Given the description of an element on the screen output the (x, y) to click on. 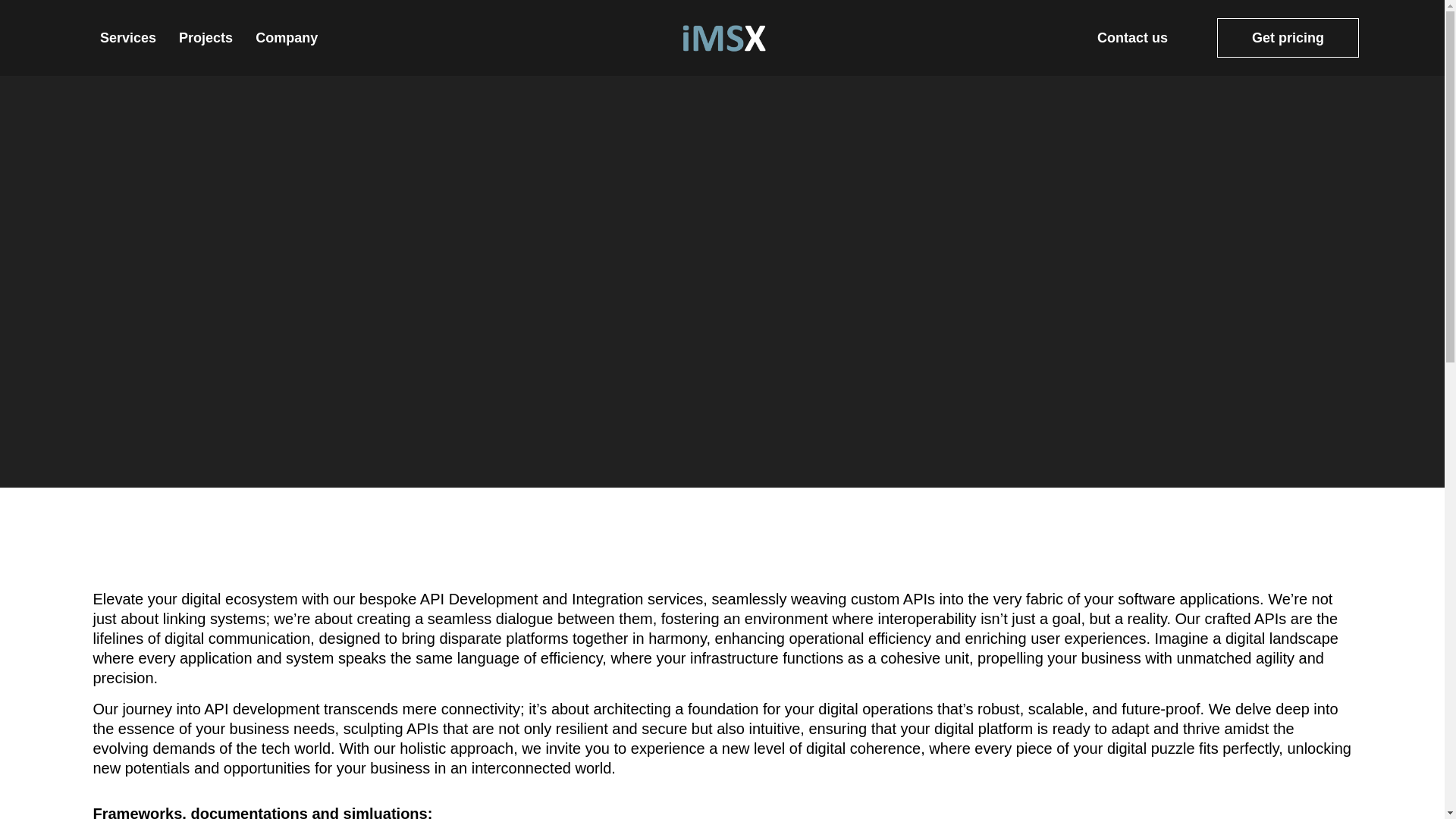
Company (286, 37)
Contact us (1132, 37)
Get pricing (1287, 37)
Projects (205, 37)
Services (127, 37)
